Given the description of an element on the screen output the (x, y) to click on. 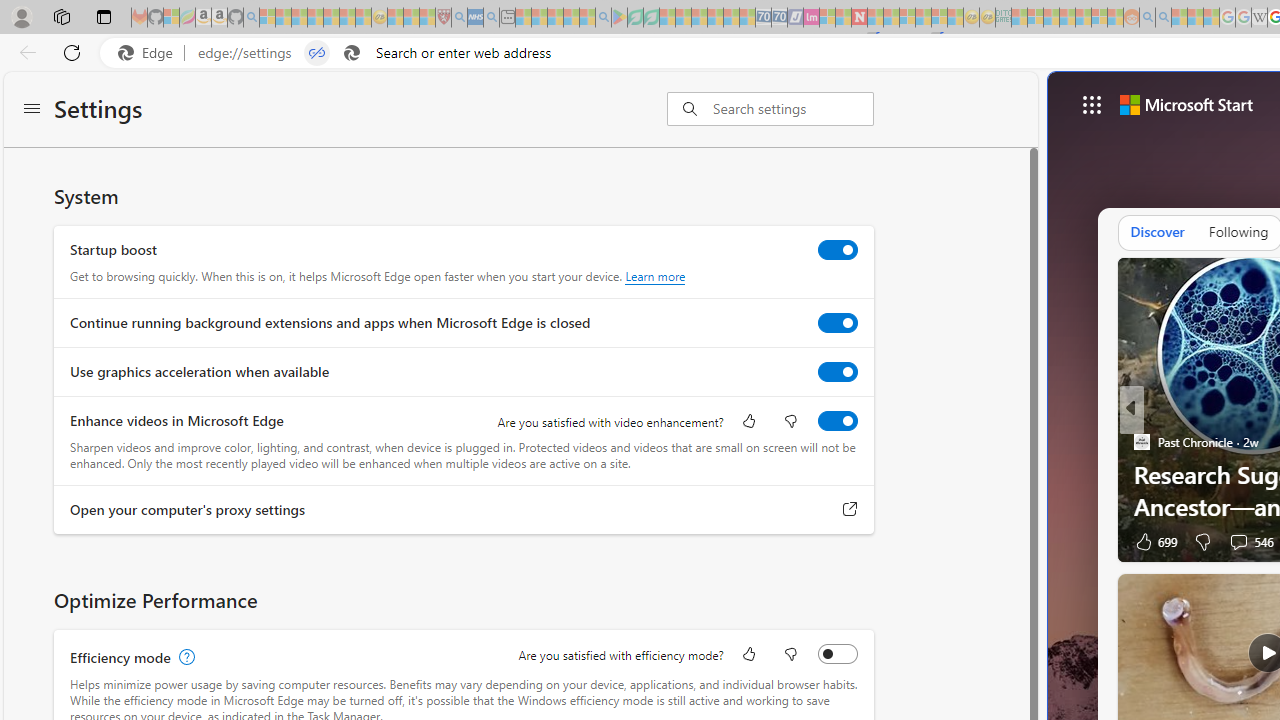
Utah sues federal government - Search - Sleeping (1163, 17)
Open your computer's proxy settings (849, 509)
Efficiency mode, learn more (184, 657)
The Weather Channel - MSN - Sleeping (299, 17)
App launcher (1092, 104)
Pets - MSN - Sleeping (571, 17)
